Given the description of an element on the screen output the (x, y) to click on. 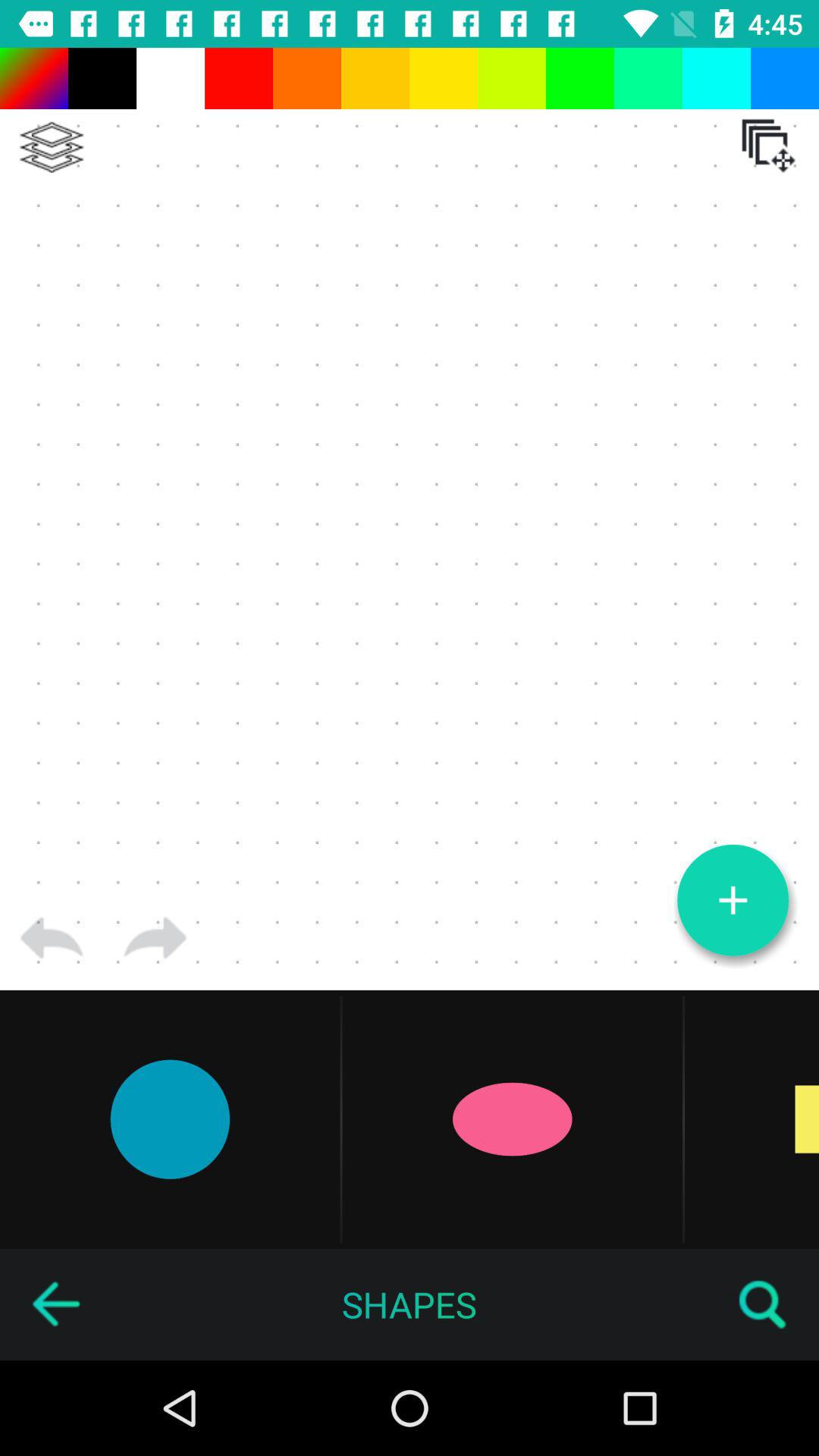
redo (155, 938)
